Given the description of an element on the screen output the (x, y) to click on. 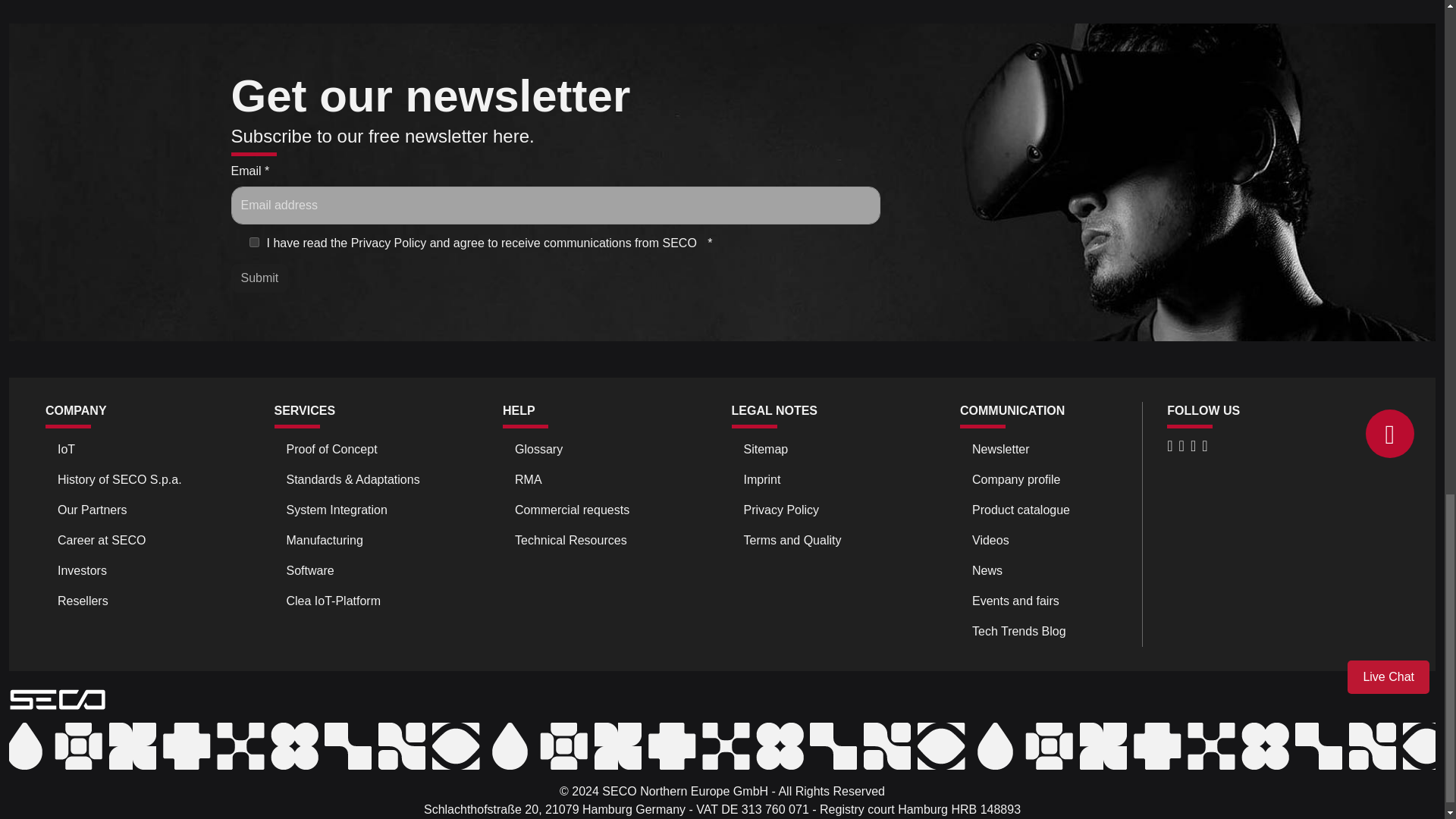
1 (253, 242)
